Given the description of an element on the screen output the (x, y) to click on. 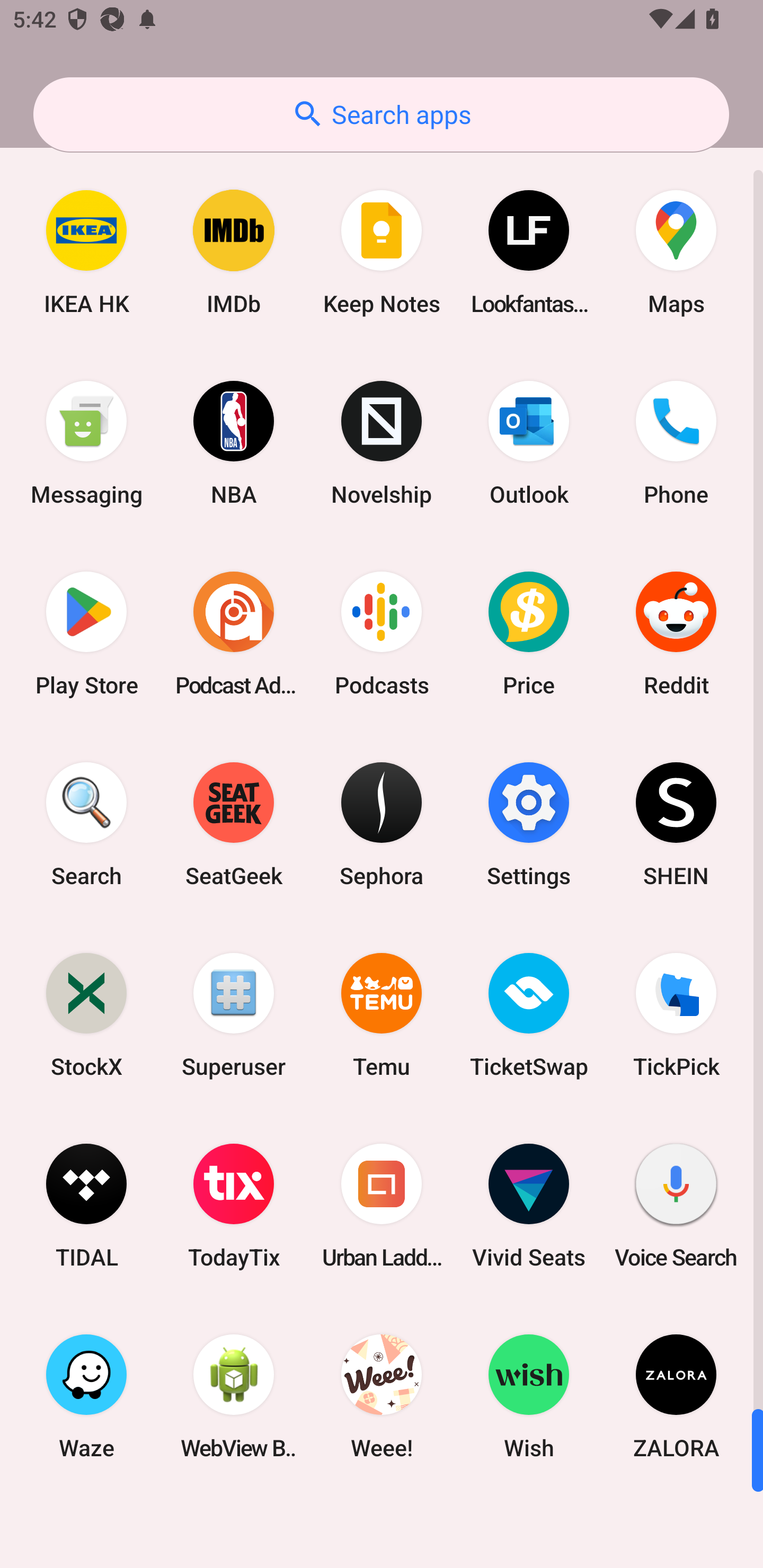
  Search apps (381, 114)
IKEA HK (86, 252)
IMDb (233, 252)
Keep Notes (381, 252)
Lookfantastic (528, 252)
Maps (676, 252)
Messaging (86, 442)
NBA (233, 442)
Novelship (381, 442)
Outlook (528, 442)
Phone (676, 442)
Play Store (86, 633)
Podcast Addict (233, 633)
Podcasts (381, 633)
Price (528, 633)
Reddit (676, 633)
Search (86, 823)
SeatGeek (233, 823)
Sephora (381, 823)
Settings (528, 823)
SHEIN (676, 823)
StockX (86, 1014)
Superuser (233, 1014)
Temu (381, 1014)
TicketSwap (528, 1014)
TickPick (676, 1014)
TIDAL (86, 1205)
TodayTix (233, 1205)
Urban Ladder (381, 1205)
Vivid Seats (528, 1205)
Voice Search (676, 1205)
Waze (86, 1396)
WebView Browser Tester (233, 1396)
Weee! (381, 1396)
Wish (528, 1396)
ZALORA (676, 1396)
